Given the description of an element on the screen output the (x, y) to click on. 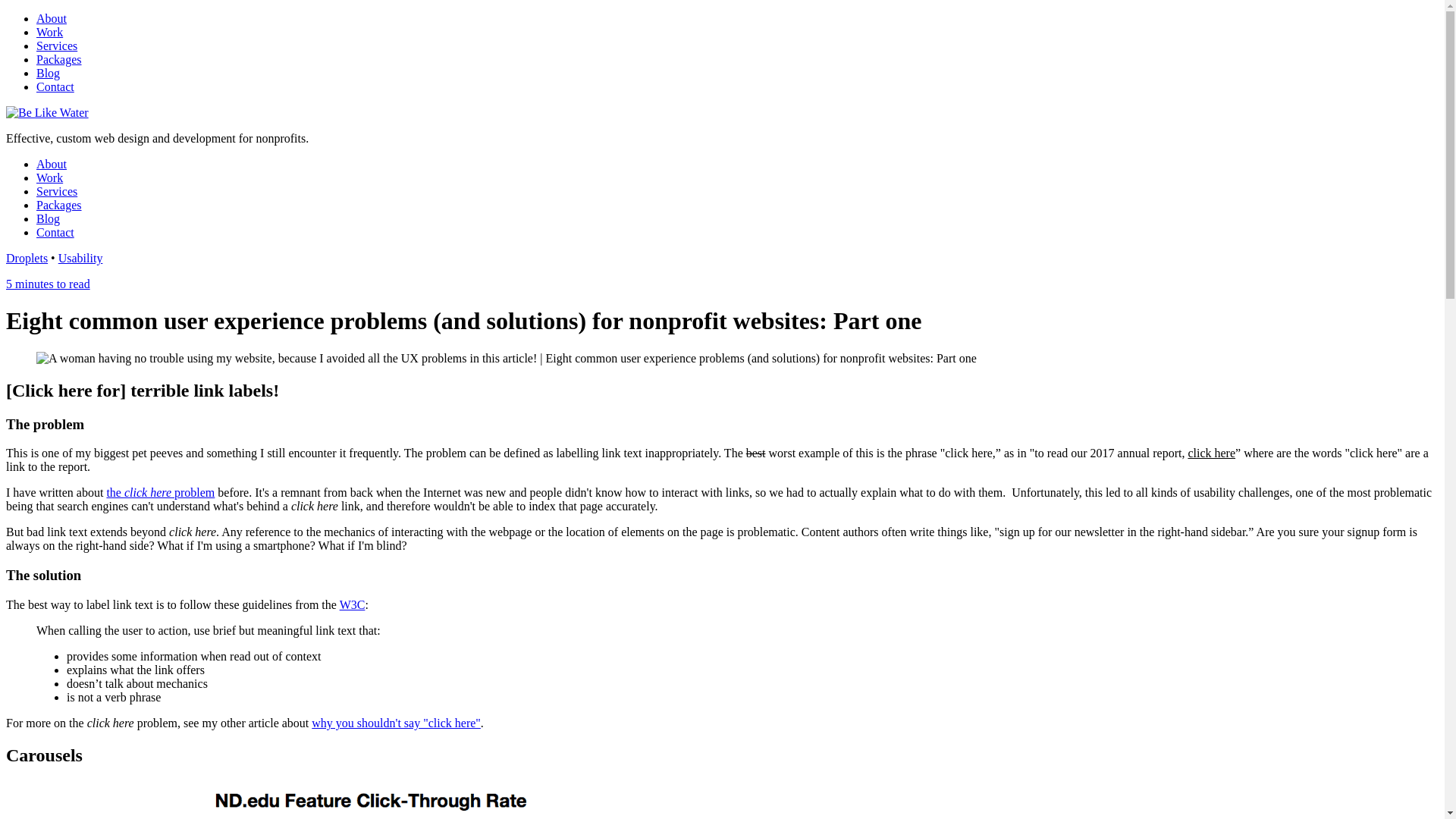
About Element type: text (51, 163)
Contact Element type: text (55, 86)
Work Element type: text (49, 177)
Contact Element type: text (55, 231)
Work Element type: text (49, 31)
5 minutes to read Element type: text (48, 283)
Packages Element type: text (58, 59)
Blog Element type: text (47, 72)
Usability Element type: text (80, 257)
the click here problem Element type: text (160, 492)
Services Element type: text (56, 45)
Blog Element type: text (47, 218)
Droplets Element type: text (26, 257)
Packages Element type: text (58, 204)
About Element type: text (51, 18)
W3C Element type: text (352, 604)
why you shouldn't say "click here" Element type: text (395, 722)
Services Element type: text (56, 191)
